Given the description of an element on the screen output the (x, y) to click on. 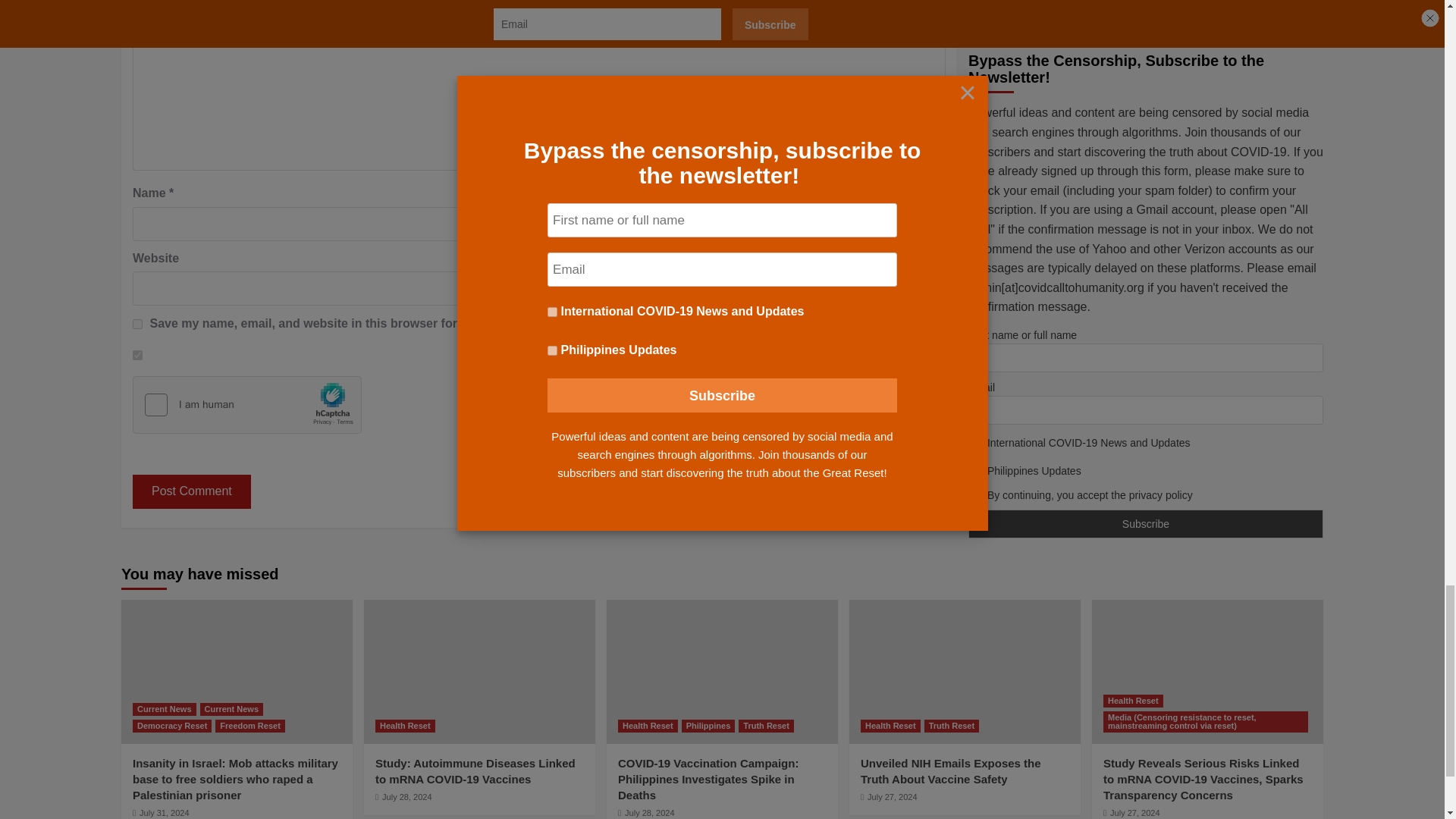
yes (137, 324)
Post Comment (191, 491)
1 (137, 355)
Widget containing checkbox for hCaptcha security challenge (247, 404)
